Given the description of an element on the screen output the (x, y) to click on. 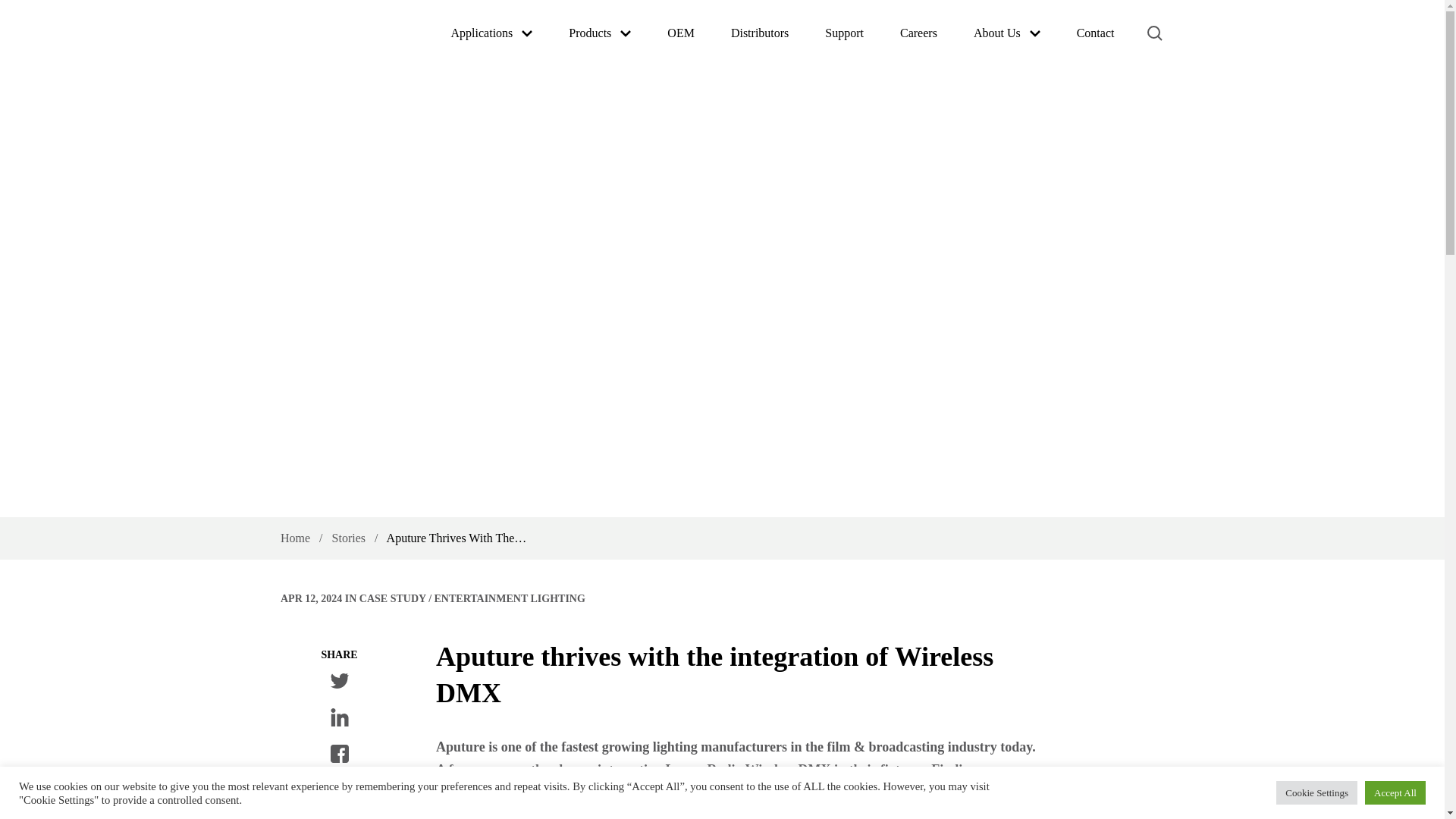
Careers (918, 33)
Support (844, 33)
Distributors (759, 33)
OEM (681, 33)
